Given the description of an element on the screen output the (x, y) to click on. 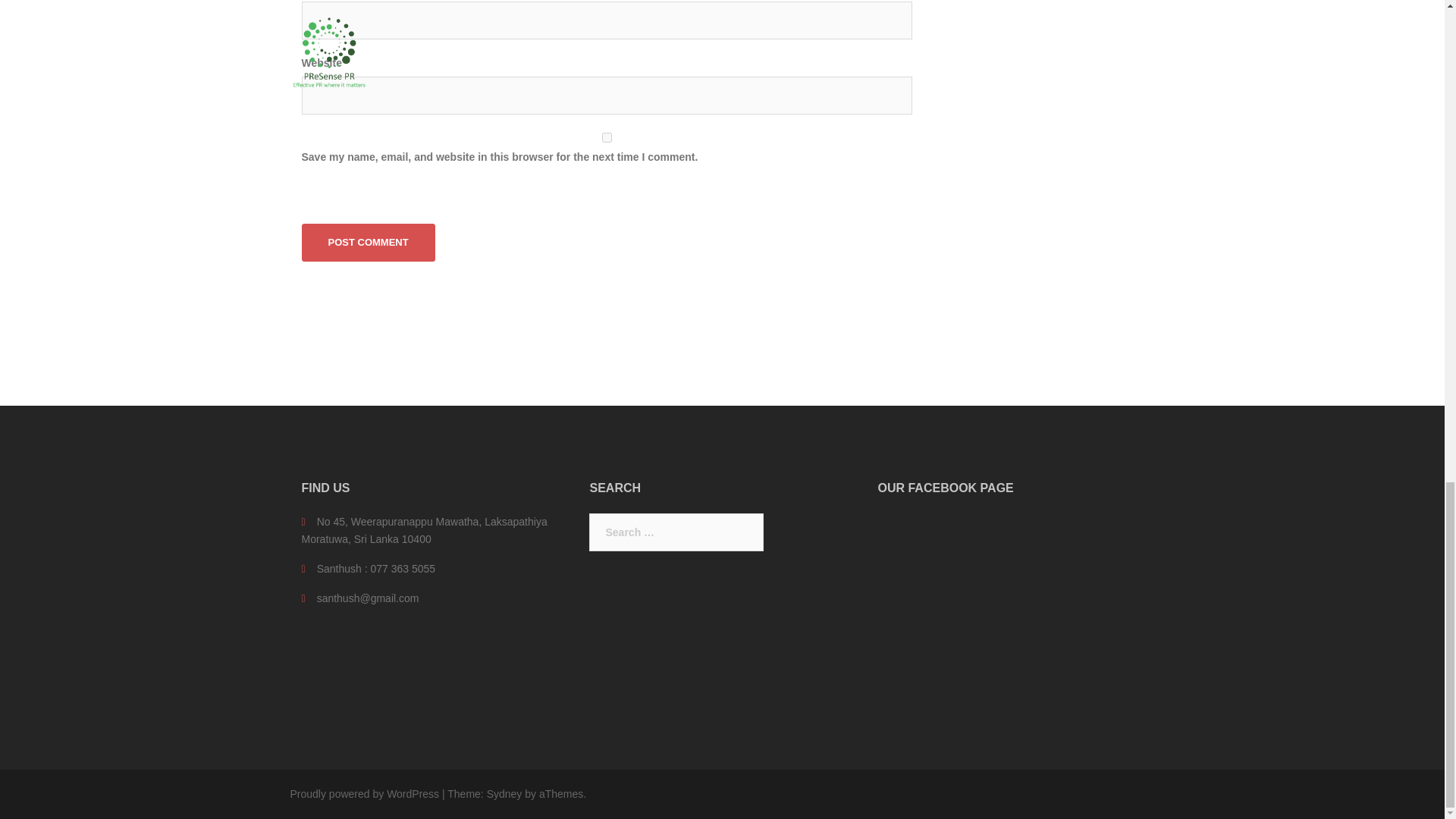
Post Comment (368, 242)
Post Comment (368, 242)
yes (606, 137)
Proudly powered by WordPress (364, 793)
Sydney (504, 793)
